Given the description of an element on the screen output the (x, y) to click on. 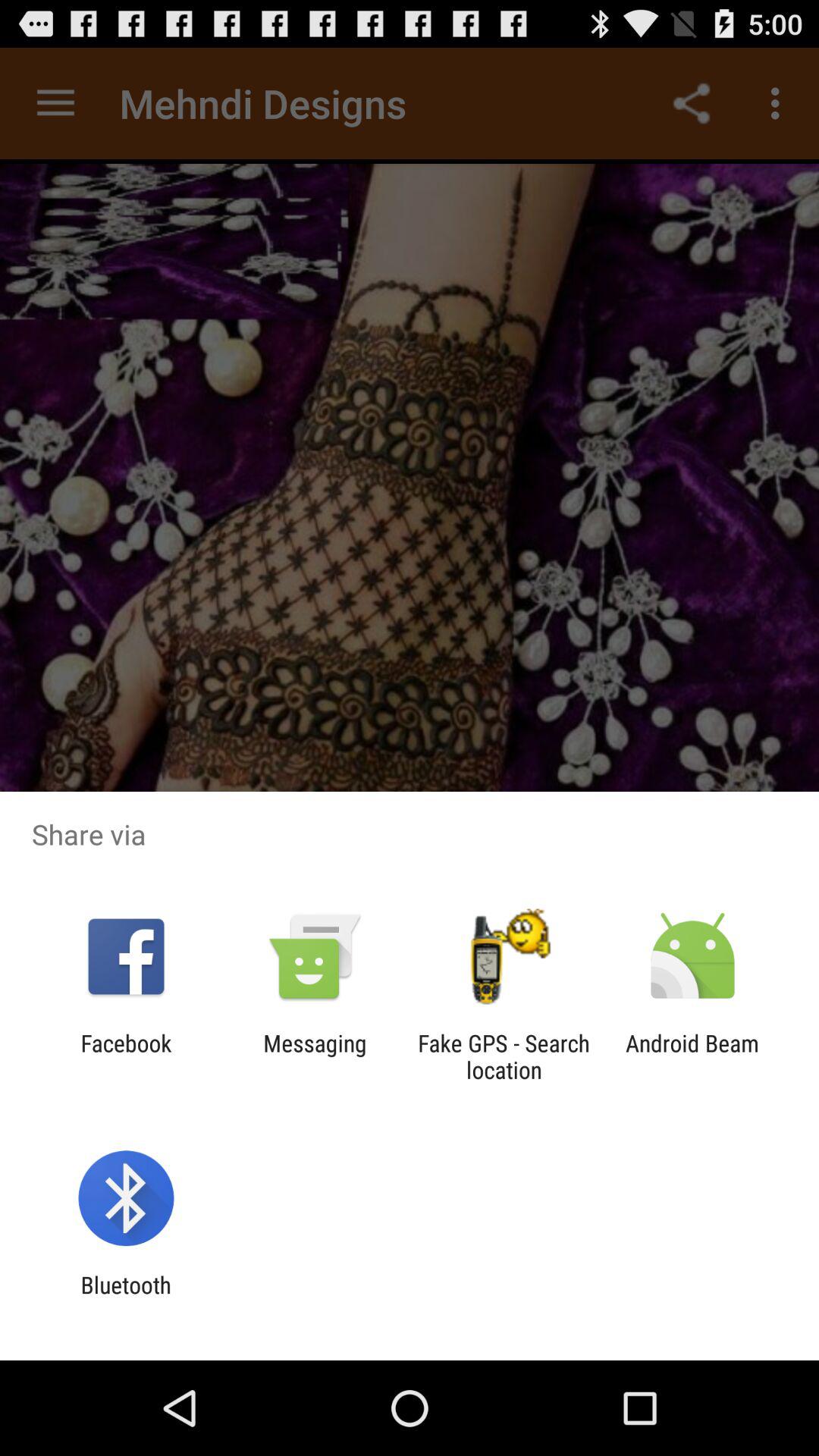
press the android beam app (692, 1056)
